Given the description of an element on the screen output the (x, y) to click on. 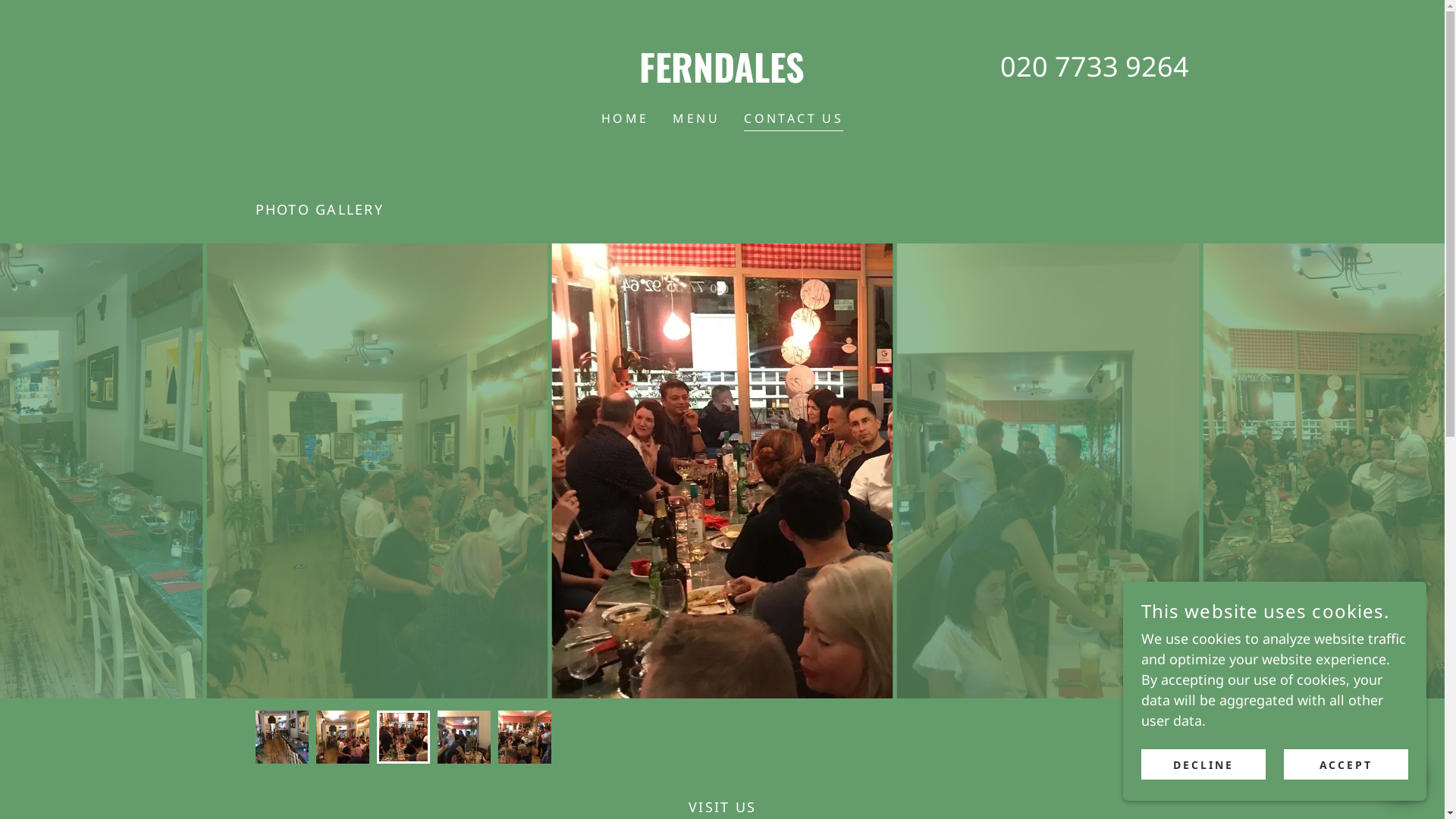
FERNDALES Element type: text (722, 77)
CONTACT US Element type: text (793, 120)
DECLINE Element type: text (1203, 764)
ACCEPT Element type: text (1345, 764)
HOME Element type: text (624, 117)
020 7733 9264 Element type: text (1094, 65)
MENU Element type: text (696, 117)
